Given the description of an element on the screen output the (x, y) to click on. 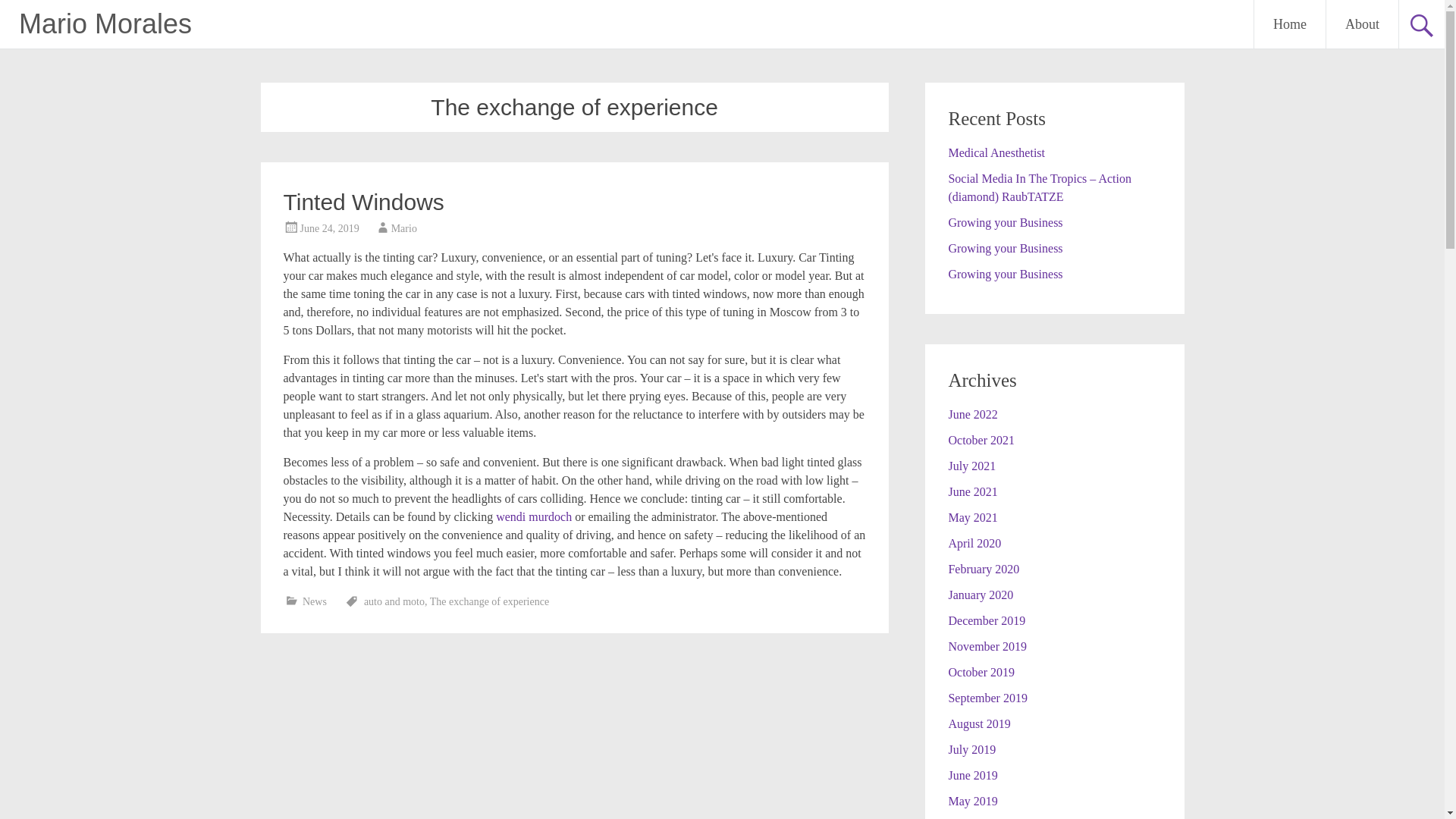
June 2021 (972, 491)
wendi murdoch (534, 516)
May 2019 (972, 800)
June 2022 (972, 413)
Growing your Business (1004, 222)
September 2019 (986, 697)
About (1361, 24)
November 2019 (986, 645)
December 2019 (986, 620)
Mario Morales (105, 23)
auto and moto (394, 601)
Tinted Windows (363, 201)
January 2020 (980, 594)
Mario (403, 228)
Mario Morales (105, 23)
